Given the description of an element on the screen output the (x, y) to click on. 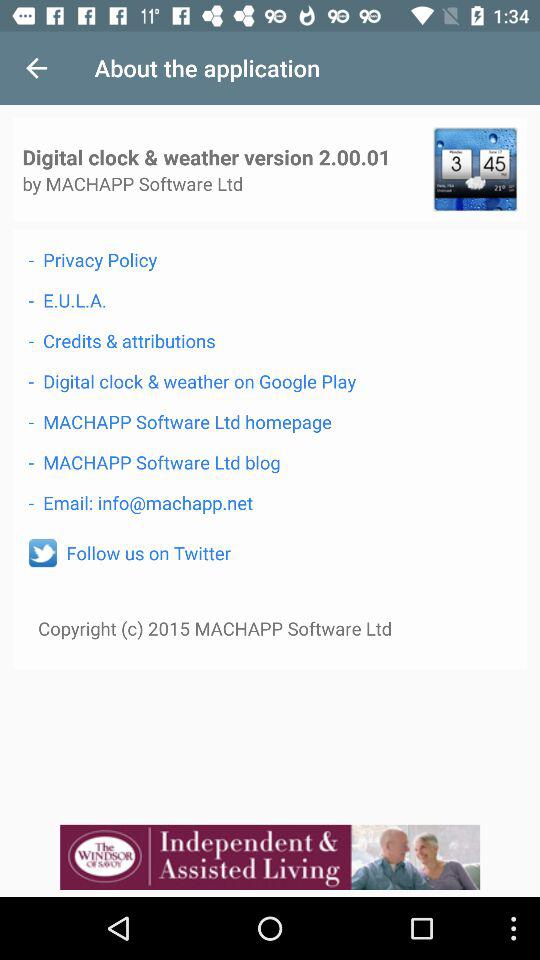
go to website (270, 857)
